Given the description of an element on the screen output the (x, y) to click on. 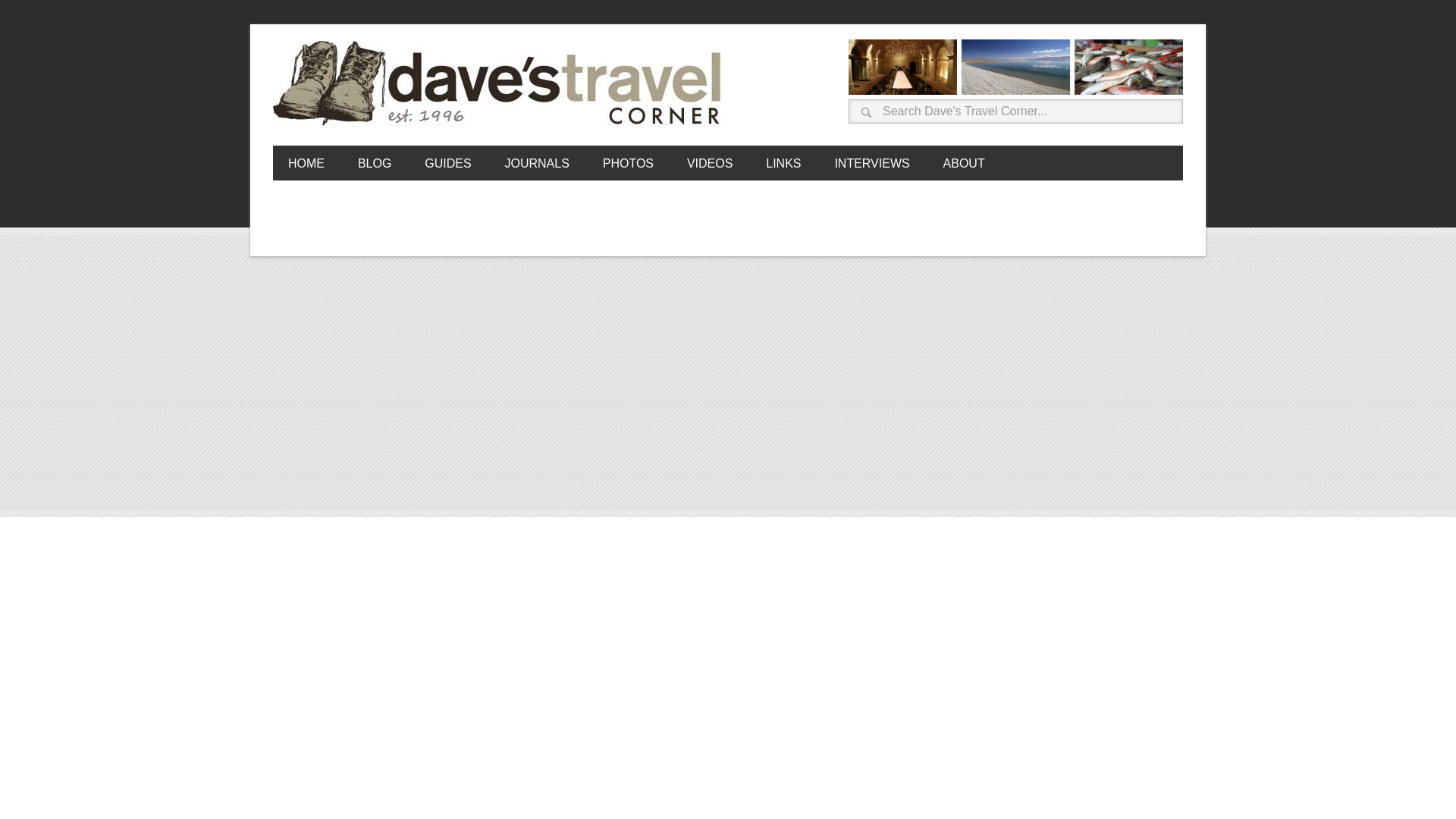
INTERVIEWS (871, 162)
LINKS (783, 162)
JOURNALS (536, 162)
ABOUT (964, 162)
VIDEOS (709, 162)
DAVE'S TRAVEL CORNER (500, 83)
GUIDES (447, 162)
PHOTOS (628, 162)
